Given the description of an element on the screen output the (x, y) to click on. 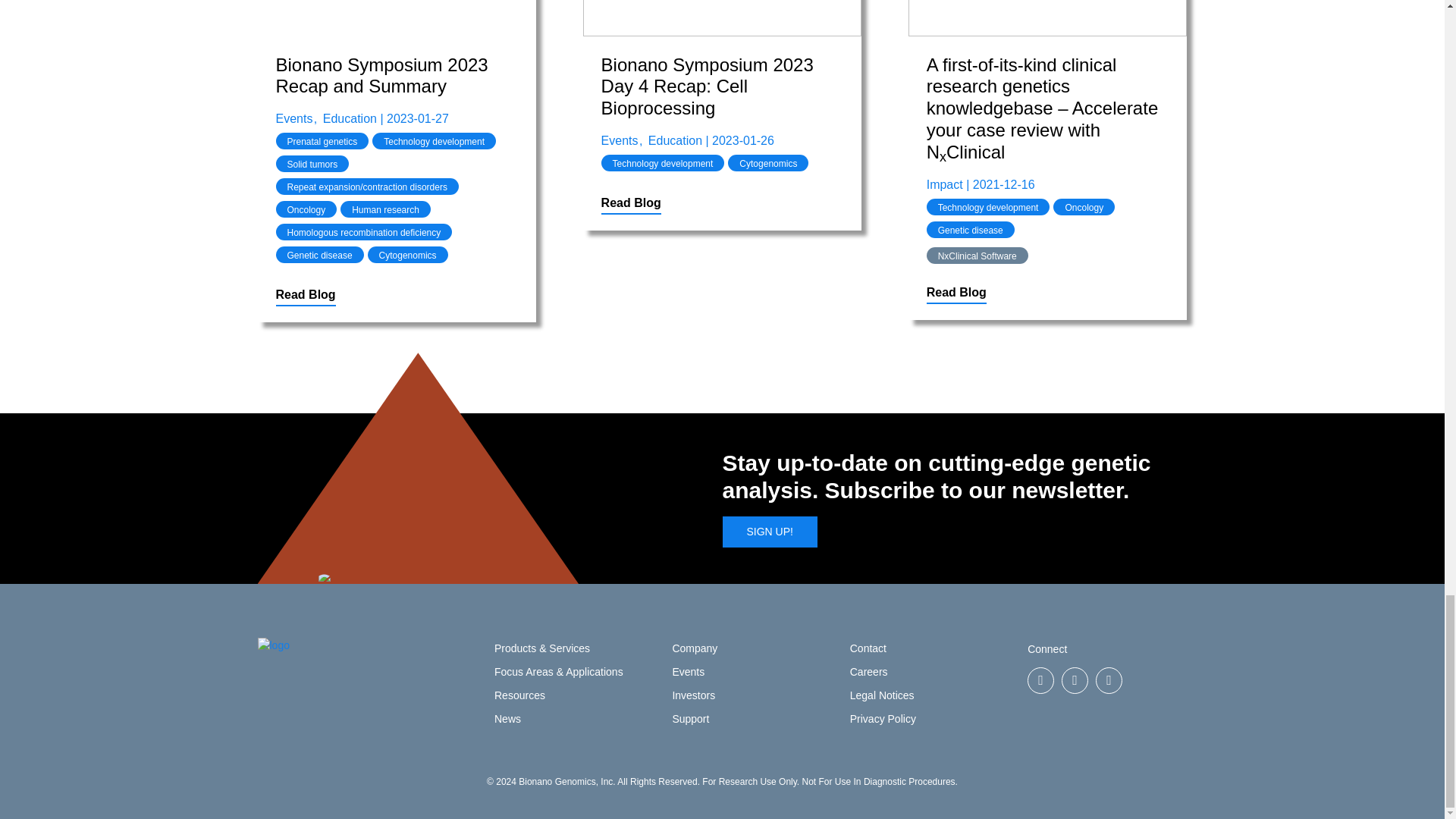
logo (273, 645)
